Given the description of an element on the screen output the (x, y) to click on. 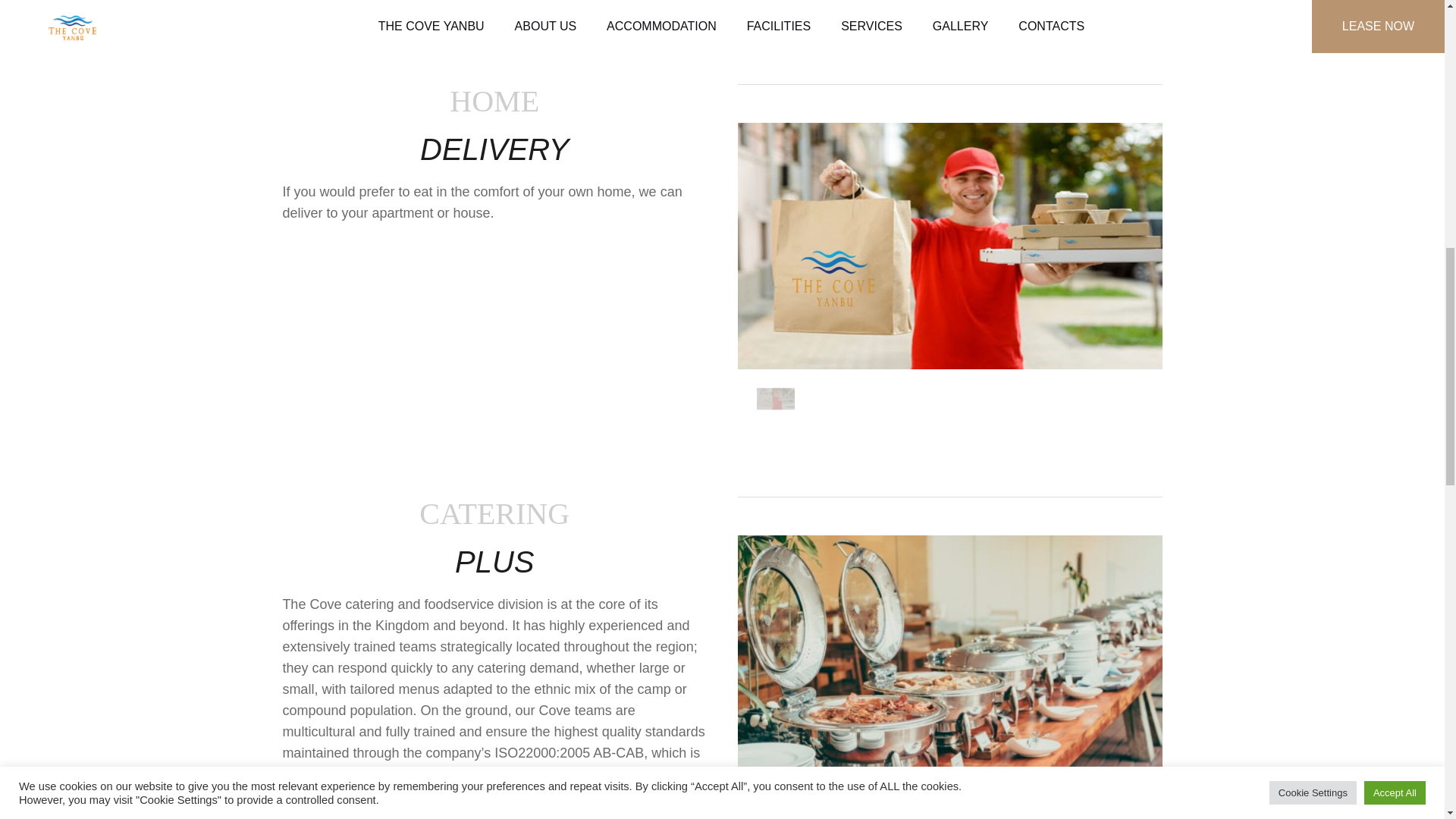
Food and Beverages 2 (949, 245)
Food and Beverages 3 (949, 658)
